Given the description of an element on the screen output the (x, y) to click on. 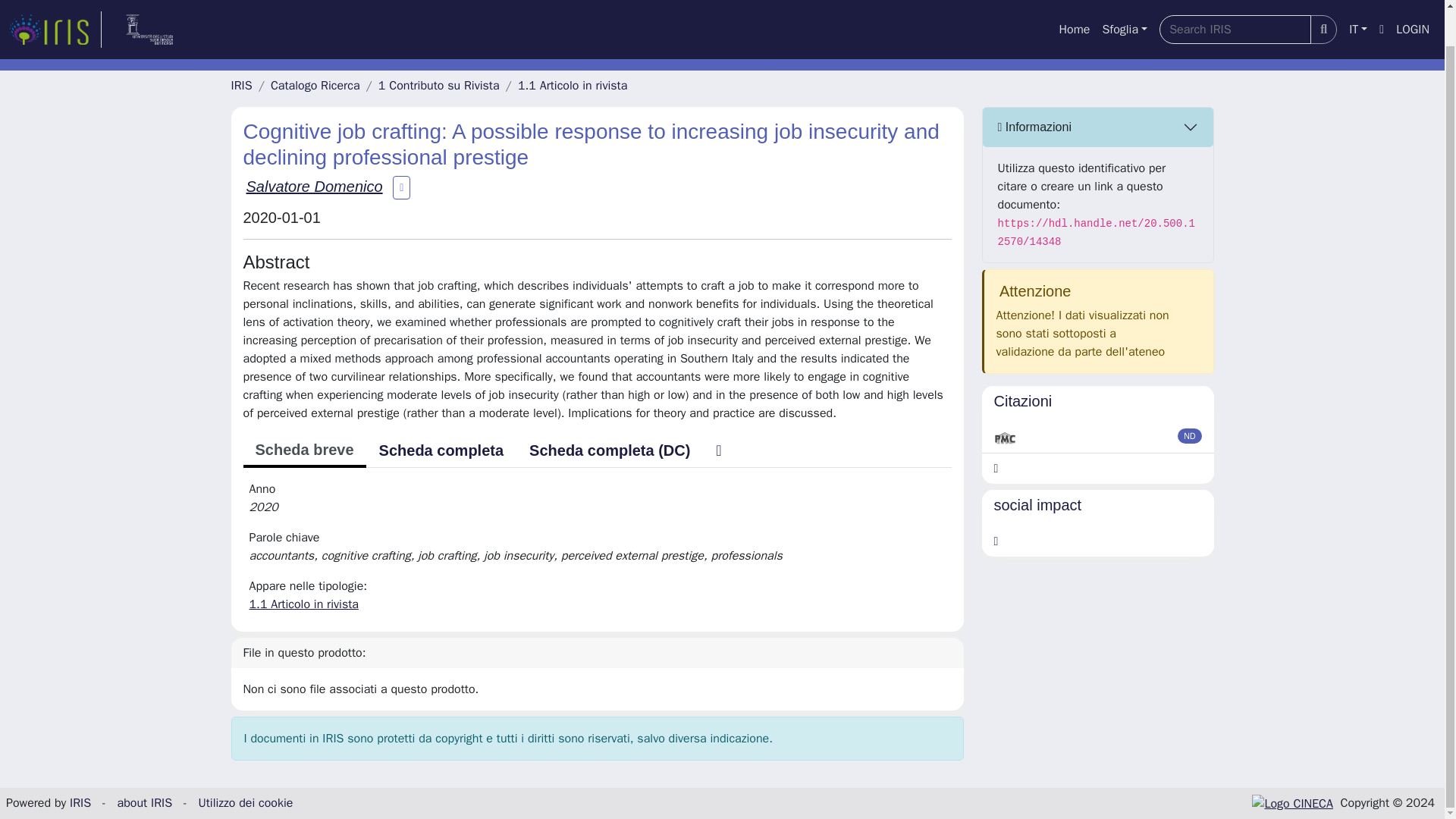
Salvatore Domenico (313, 186)
Scheda completa (441, 450)
about IRIS (145, 802)
Sfoglia (1124, 3)
IT (1357, 3)
1.1 Articolo in rivista (303, 604)
Utilizzo dei cookie (245, 802)
1.1 Articolo in rivista (572, 85)
Catalogo Ricerca (314, 85)
IRIS (240, 85)
